Given the description of an element on the screen output the (x, y) to click on. 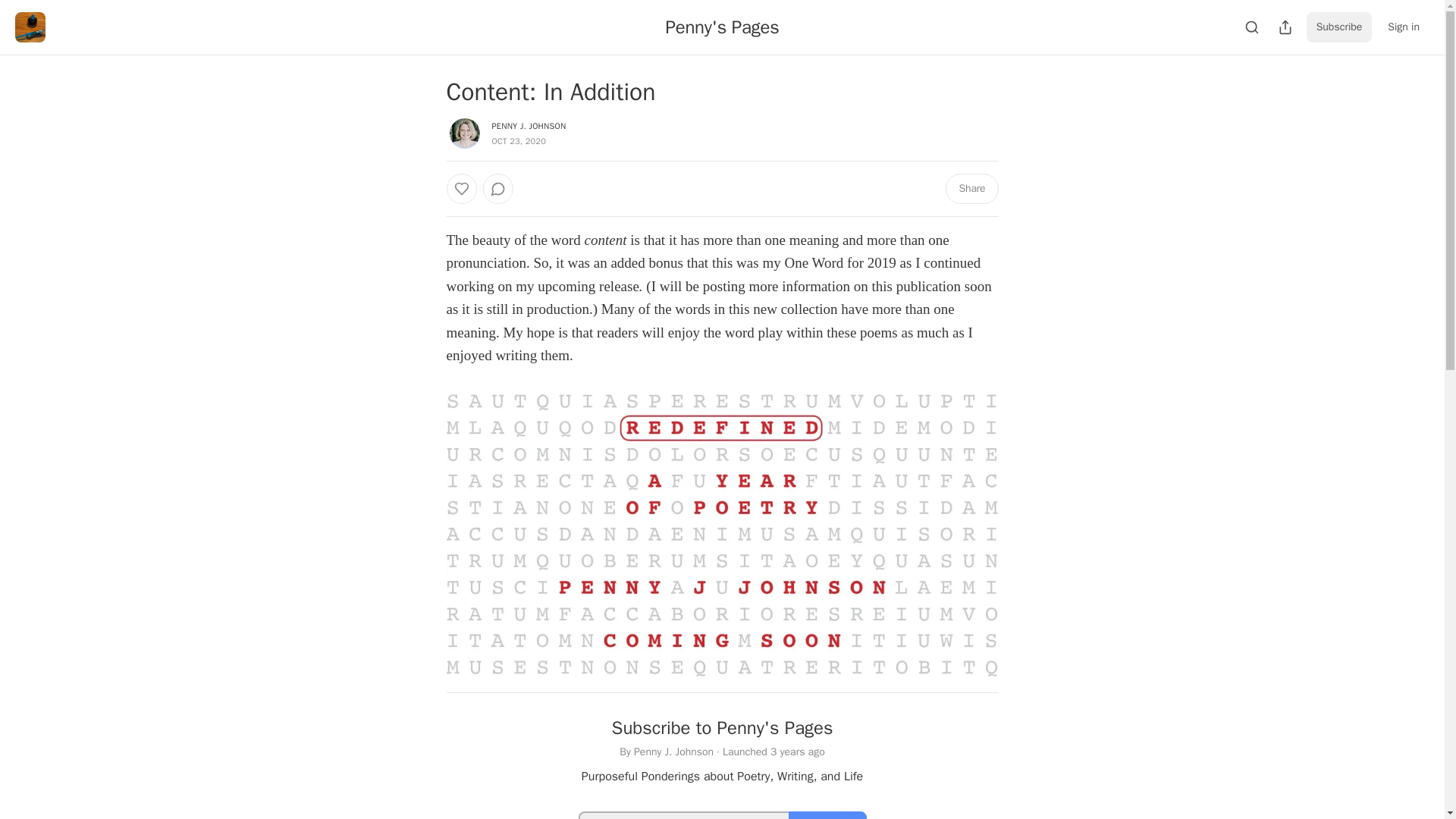
PENNY J. JOHNSON (529, 125)
Share (970, 188)
Subscribe (1339, 27)
Sign in (1403, 27)
Penny's Pages (721, 26)
Subscribe (827, 815)
